Given the description of an element on the screen output the (x, y) to click on. 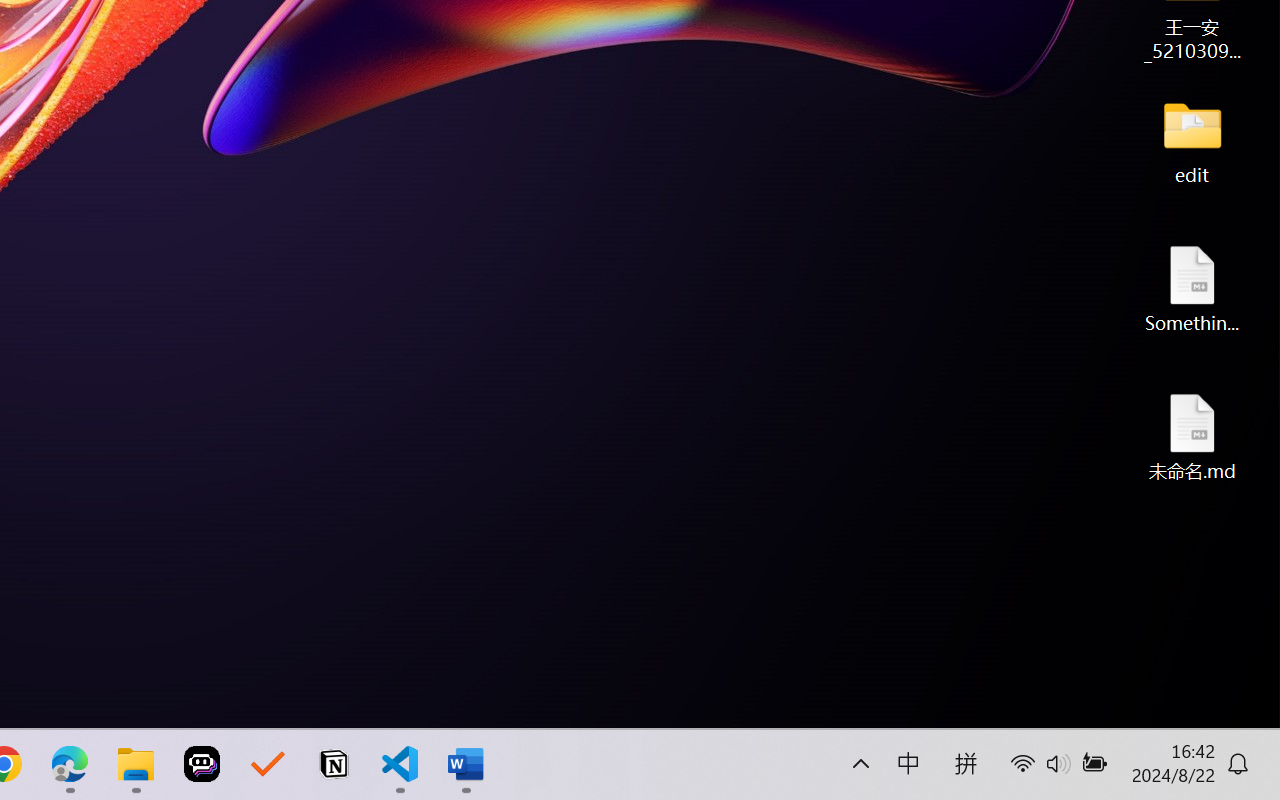
Something.md (1192, 288)
edit (1192, 140)
